Given the description of an element on the screen output the (x, y) to click on. 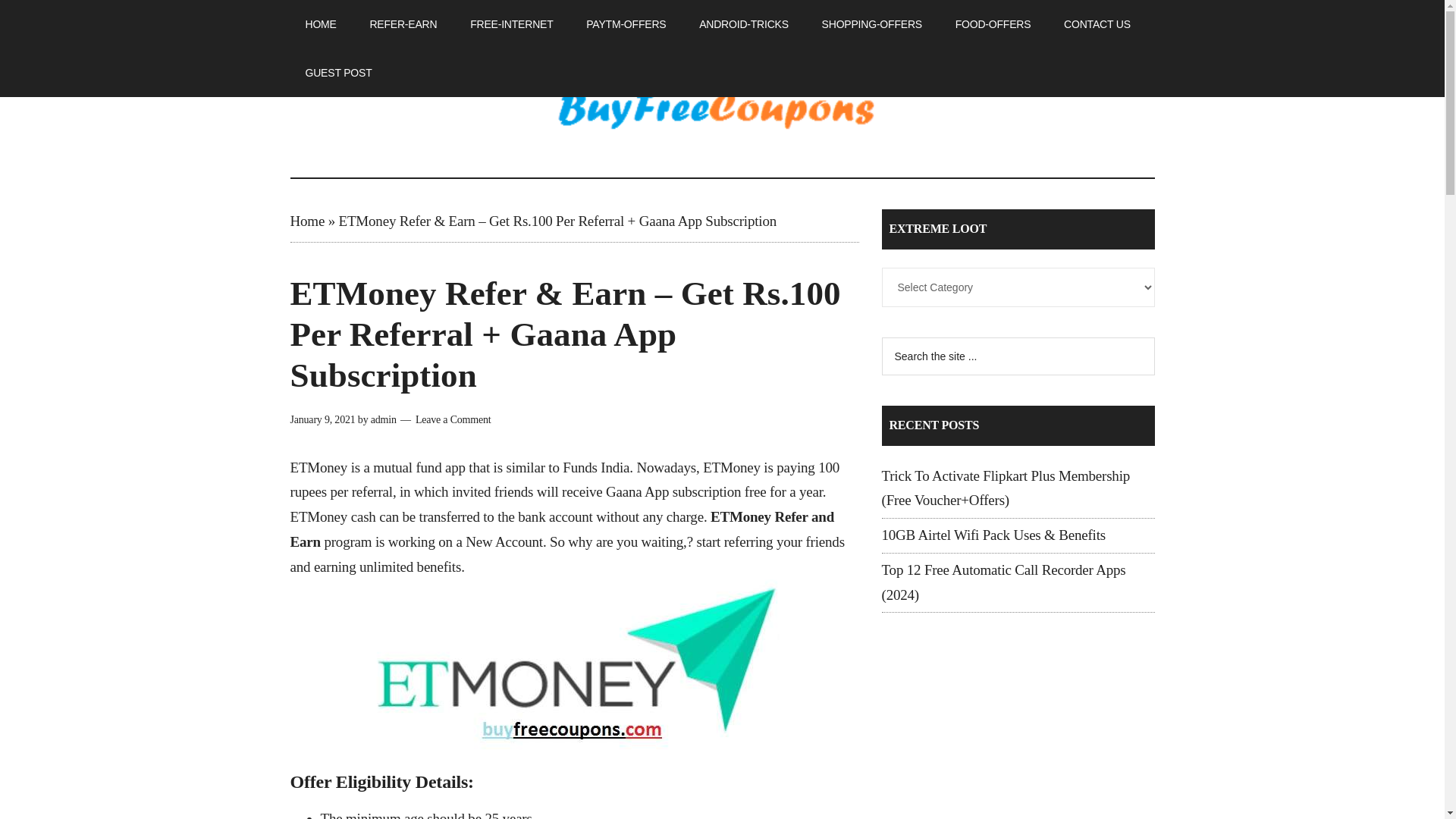
FOOD-OFFERS (993, 24)
PAYTM-OFFERS (625, 24)
SHOPPING-OFFERS (871, 24)
ANDROID-TRICKS (743, 24)
CONTACT US (1096, 24)
Leave a Comment (453, 419)
Home (306, 220)
REFER-EARN (402, 24)
HOME (319, 24)
Buyfreecoupons (721, 112)
admin (383, 419)
FREE-INTERNET (510, 24)
